Given the description of an element on the screen output the (x, y) to click on. 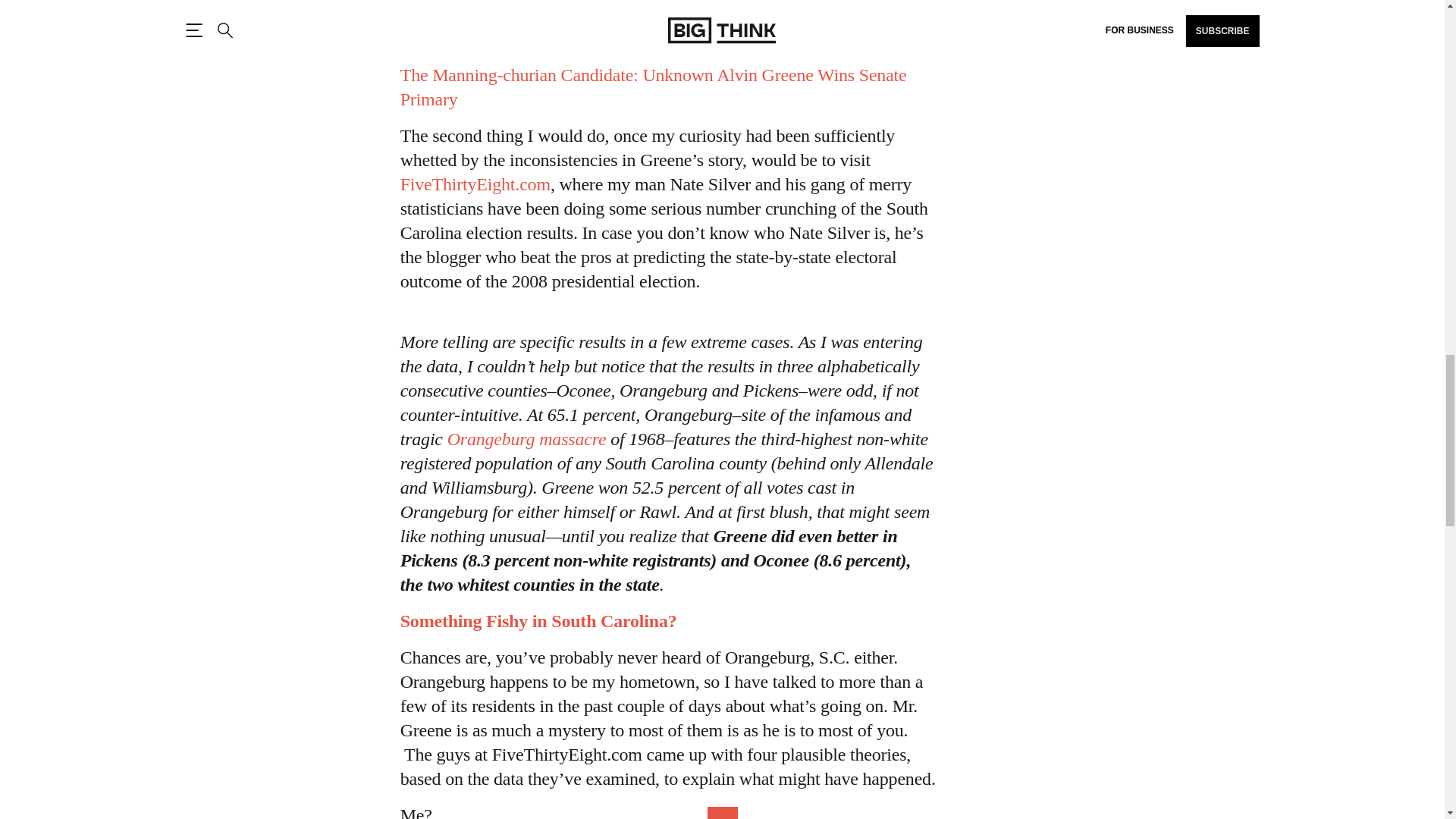
Permanlink: Copy Link, Add to Favorites, Bookmark (653, 86)
